Given the description of an element on the screen output the (x, y) to click on. 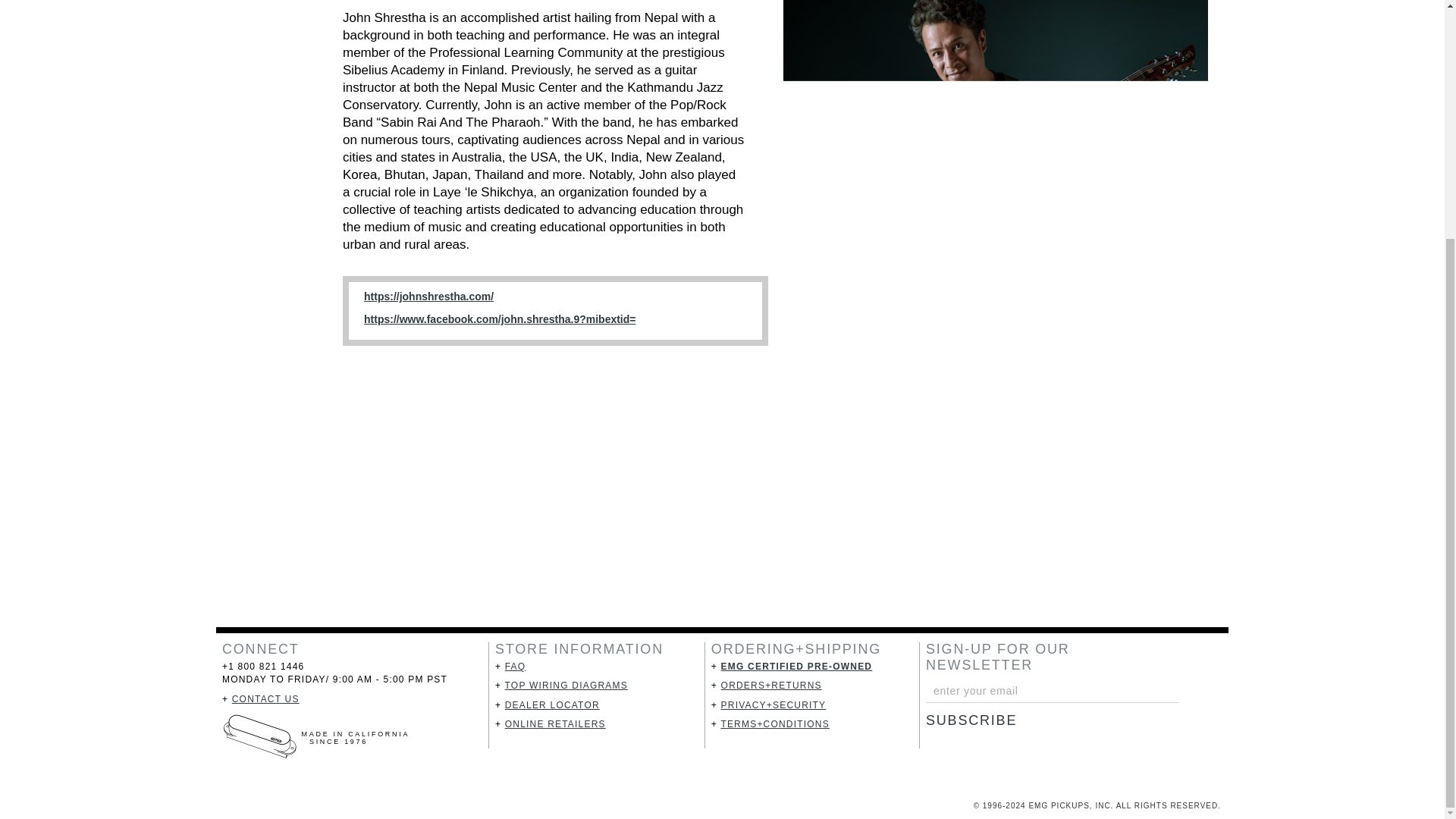
Subscribe (982, 719)
